Given the description of an element on the screen output the (x, y) to click on. 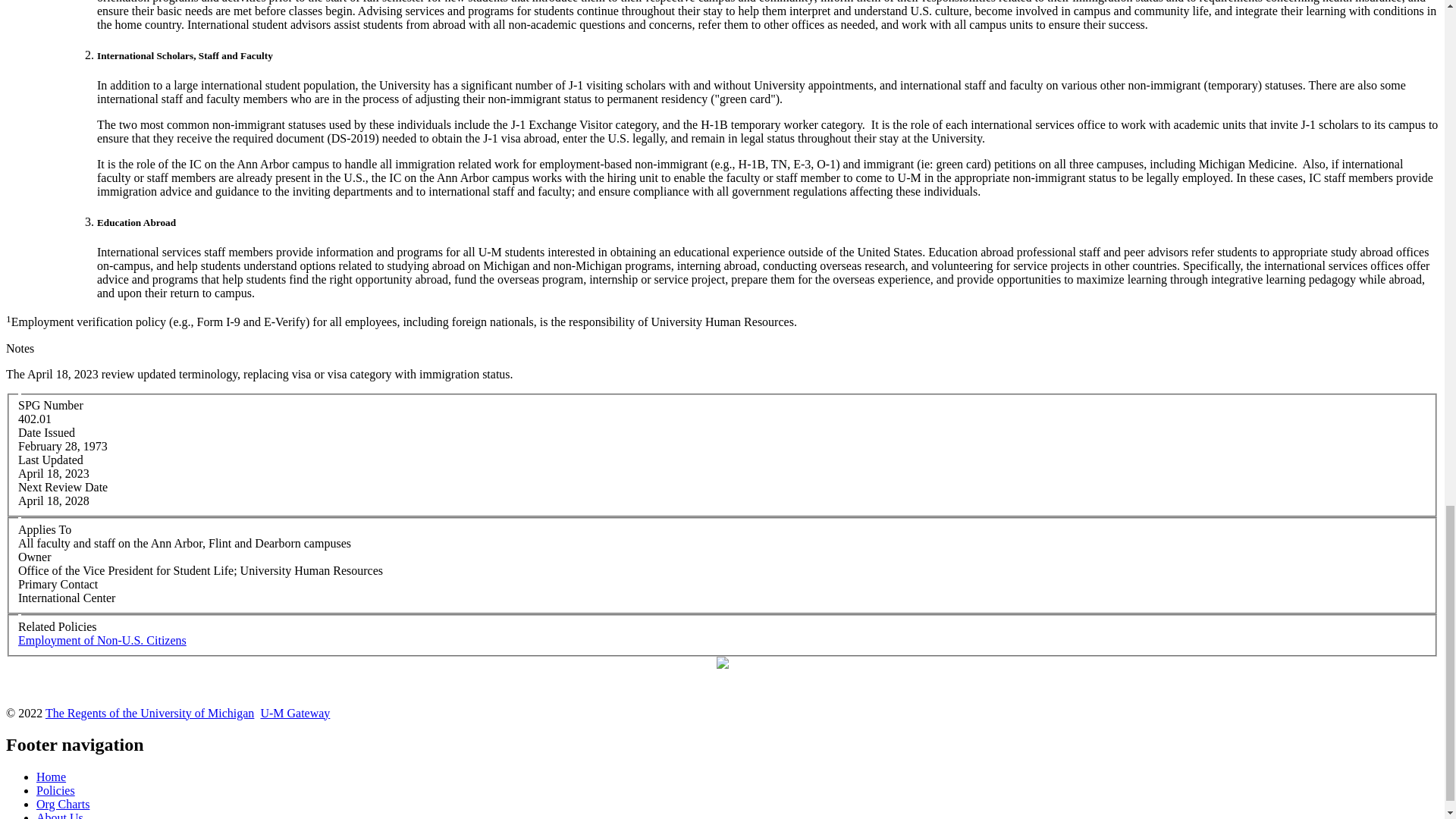
Org Charts (62, 803)
Employment of Non-U.S. Citizens (101, 640)
Policies (55, 789)
U-M Gateway (295, 712)
The Regents of the University of Michigan (149, 712)
1 (8, 322)
Home (50, 776)
